Given the description of an element on the screen output the (x, y) to click on. 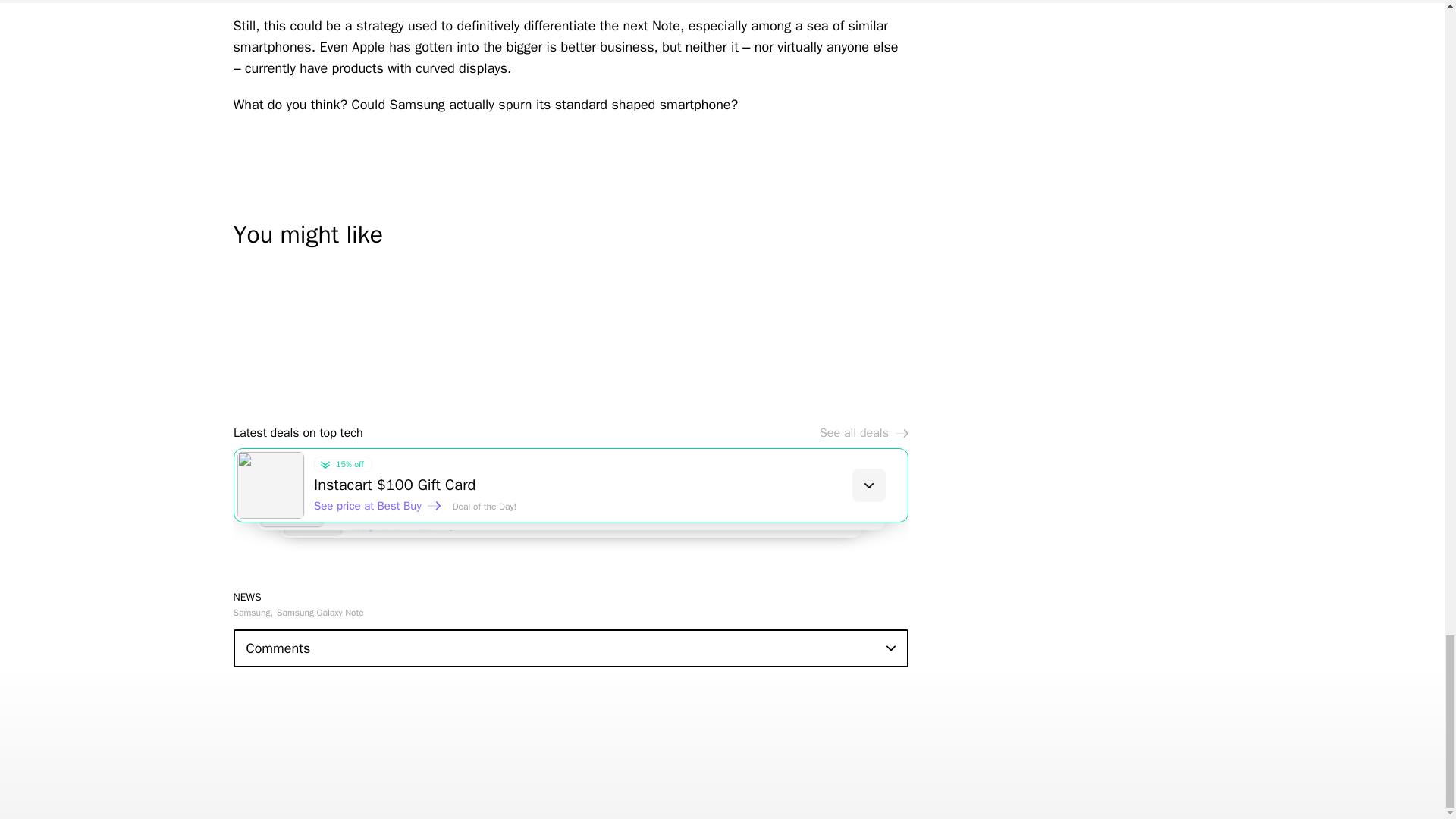
See price at Best Buy (377, 505)
See price at Apple (386, 502)
Apple Music 3-Month Free Trial (627, 485)
See price at Amazon (409, 531)
See all deals (862, 432)
